Given the description of an element on the screen output the (x, y) to click on. 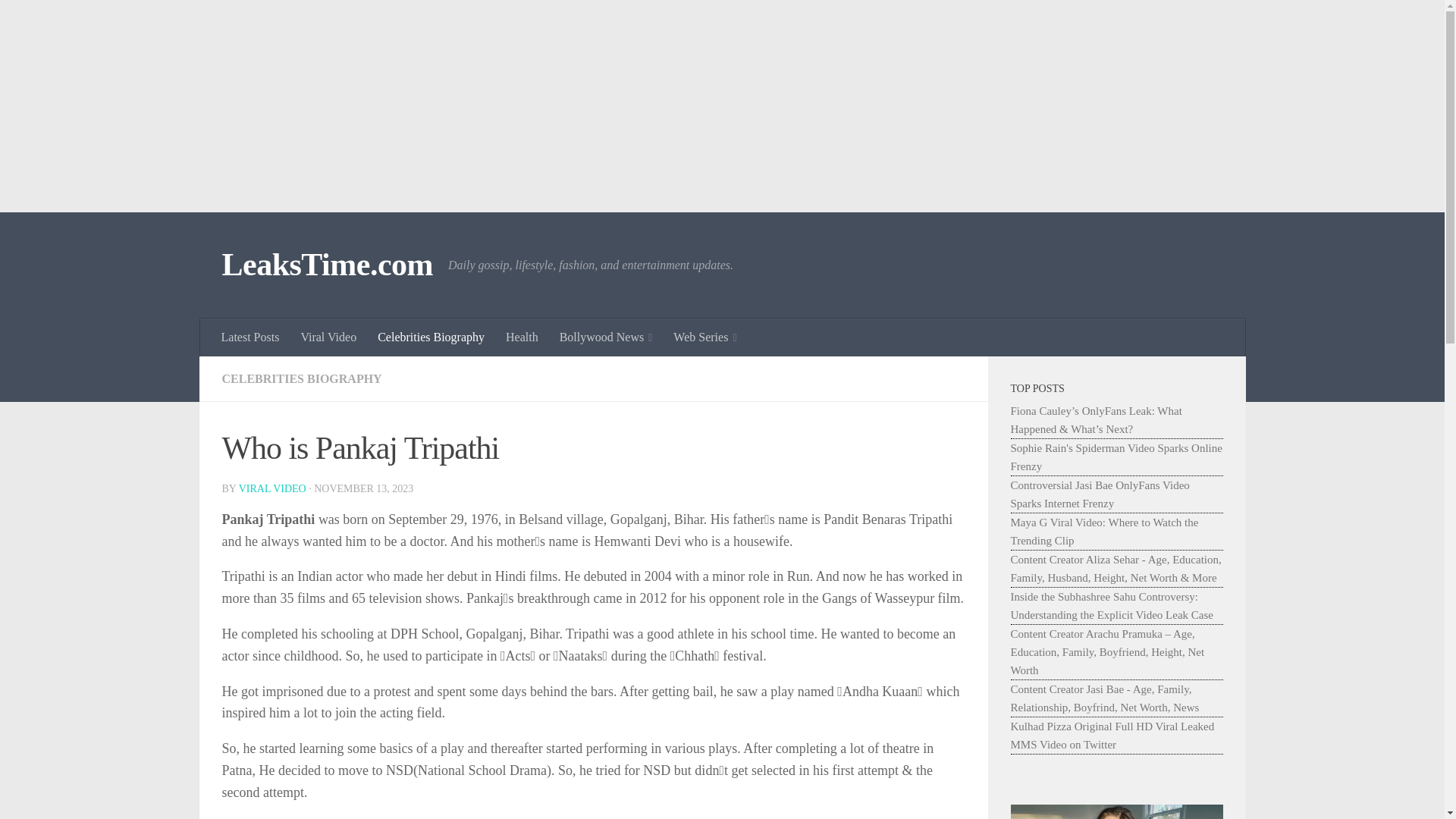
Viral Video (327, 337)
Skip to content (59, 20)
Bollywood News (605, 337)
Health (521, 337)
Latest Posts (250, 337)
Posts by Viral Video (271, 488)
Celebrities Biography (430, 337)
Web Series (704, 337)
LeaksTime.com (326, 265)
